Given the description of an element on the screen output the (x, y) to click on. 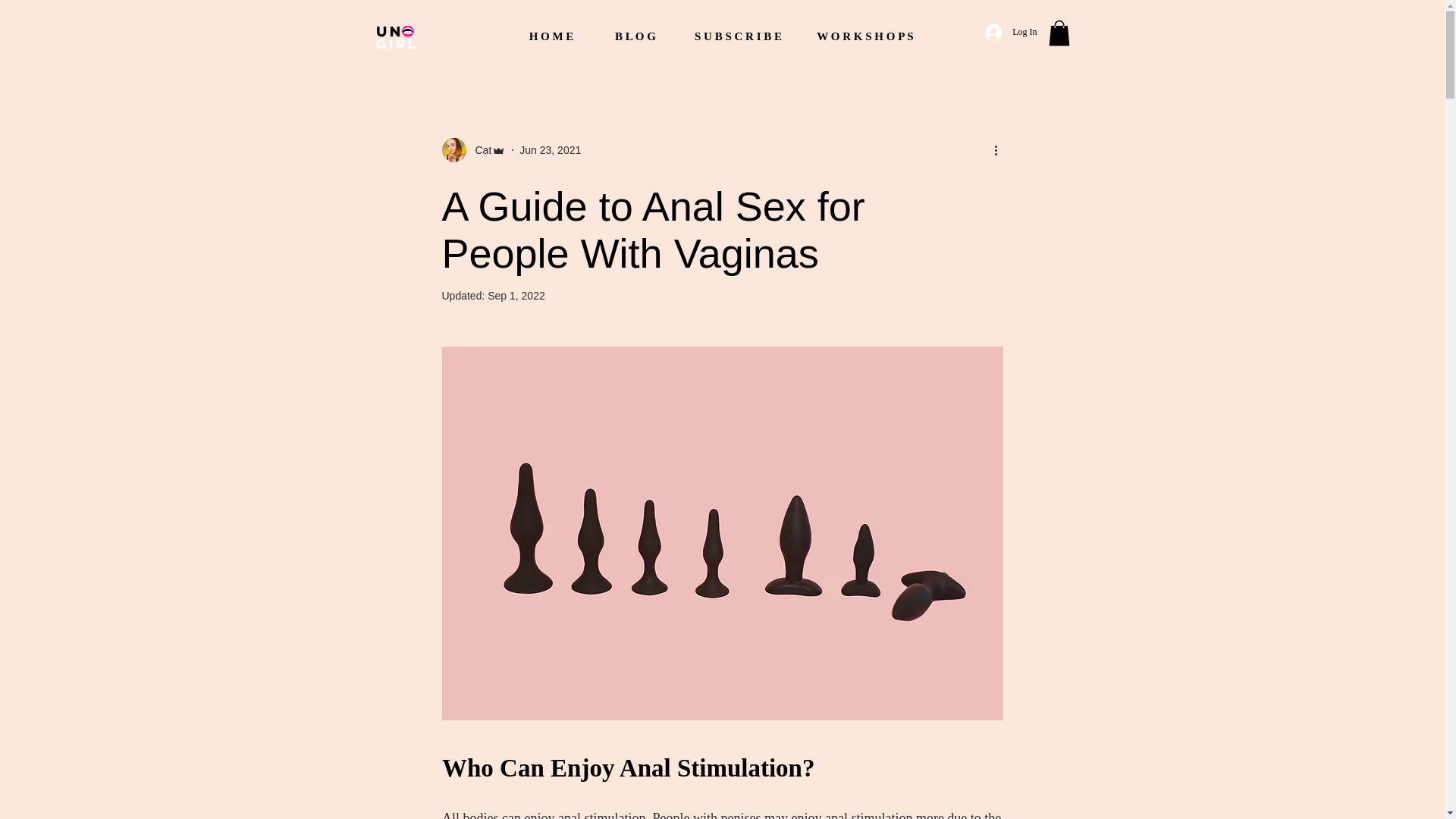
Log In (1010, 32)
H O M E (551, 36)
S U B S C R I B E (738, 36)
Cat (473, 150)
B L O G (635, 36)
Jun 23, 2021 (549, 150)
Cat (478, 150)
W O R K S H O P S (864, 36)
Sep 1, 2022 (515, 295)
